Given the description of an element on the screen output the (x, y) to click on. 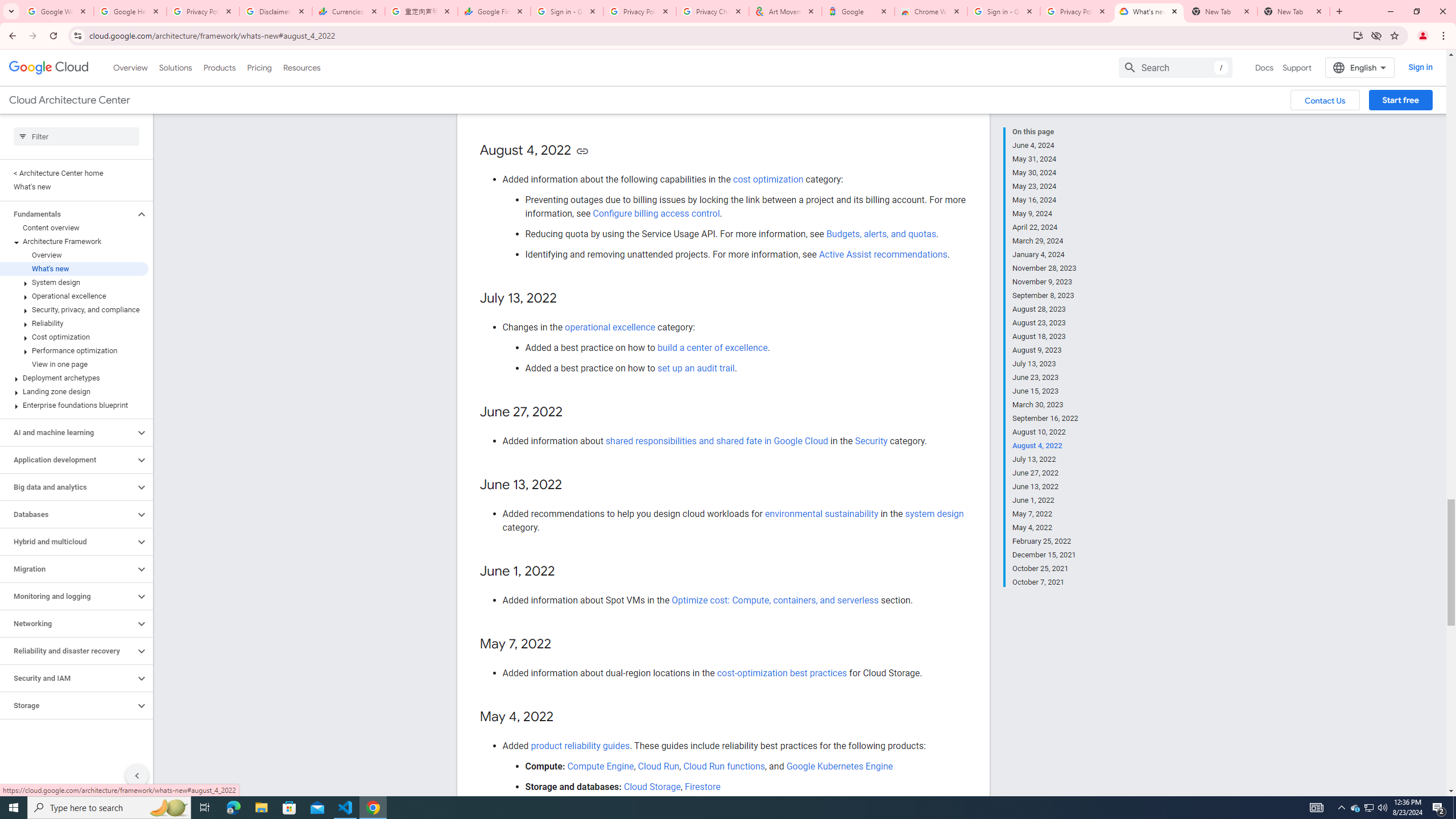
Enterprise foundations blueprint (74, 404)
Reliability (74, 323)
May 31, 2024 (1044, 159)
New Tab (1293, 11)
June 27, 2022 (1044, 472)
View in one page (74, 364)
August 9, 2023 (1044, 350)
System design (74, 282)
August 23, 2023 (1044, 323)
Migration (67, 568)
